Given the description of an element on the screen output the (x, y) to click on. 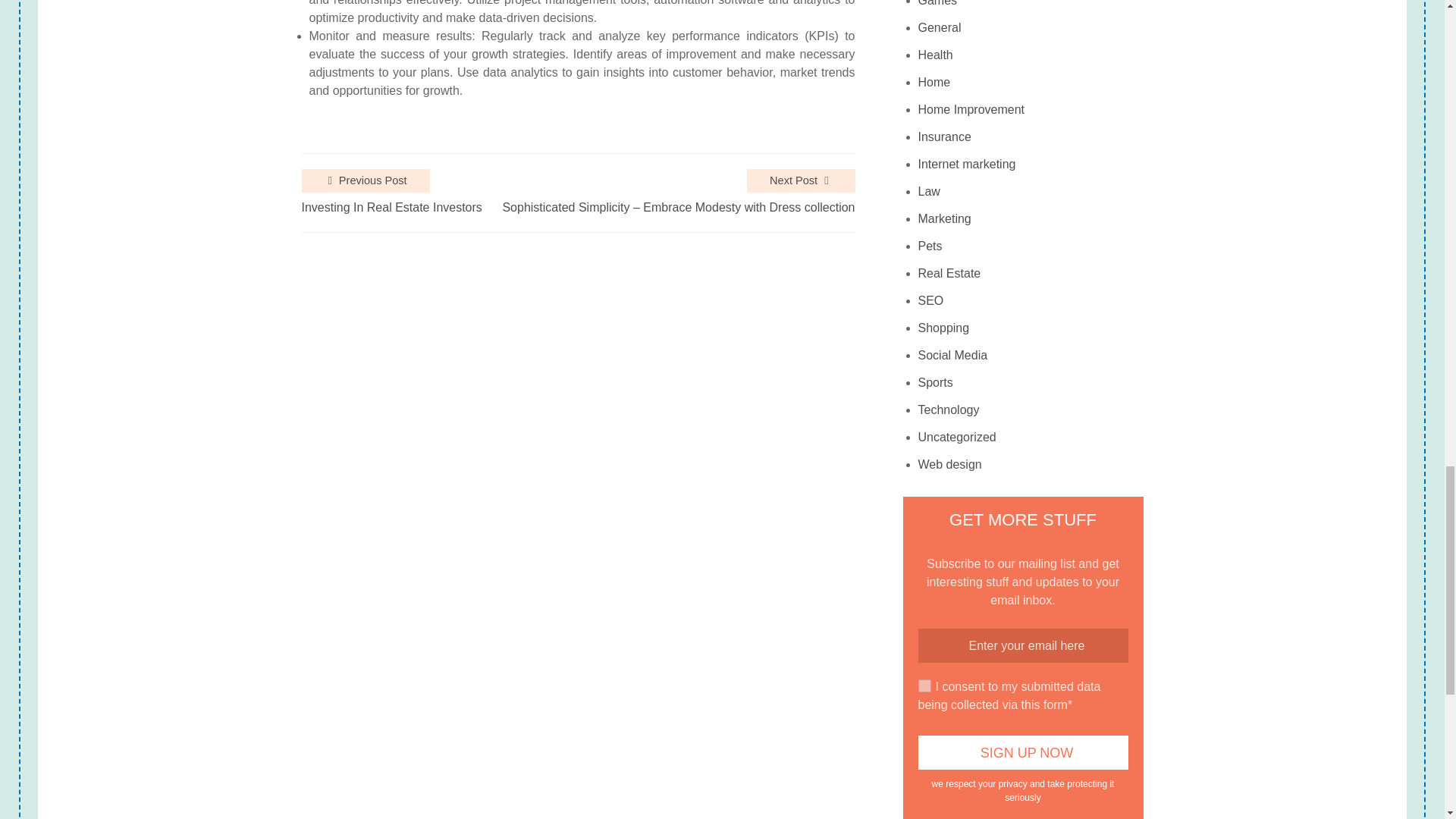
on (924, 685)
Previous Post (365, 180)
Investing In Real Estate Investors (391, 208)
General (939, 27)
Games (938, 7)
Next Post (800, 180)
Sign Up Now (1023, 752)
